Given the description of an element on the screen output the (x, y) to click on. 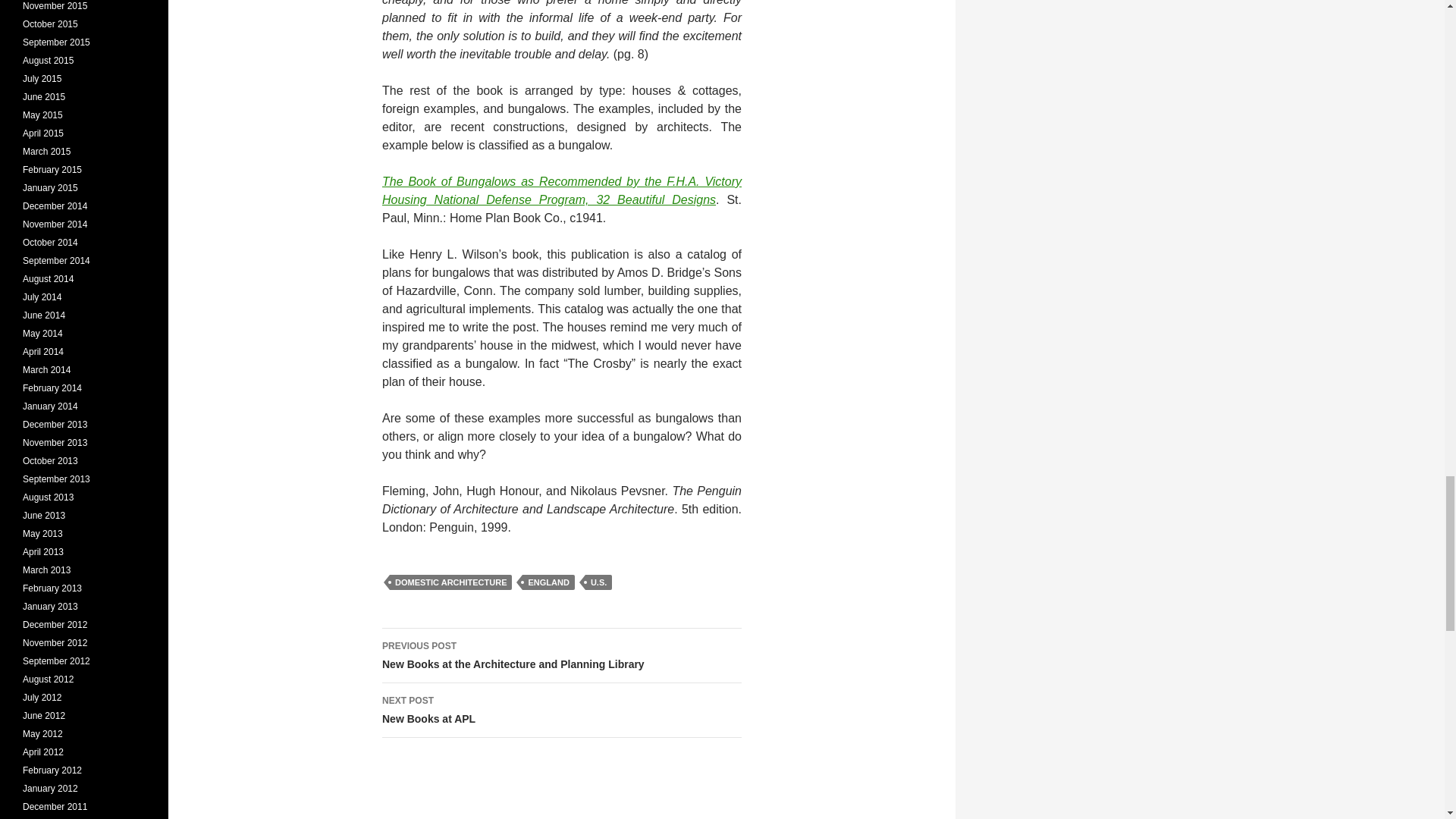
ENGLAND (547, 581)
DOMESTIC ARCHITECTURE (451, 581)
U.S. (598, 581)
